Given the description of an element on the screen output the (x, y) to click on. 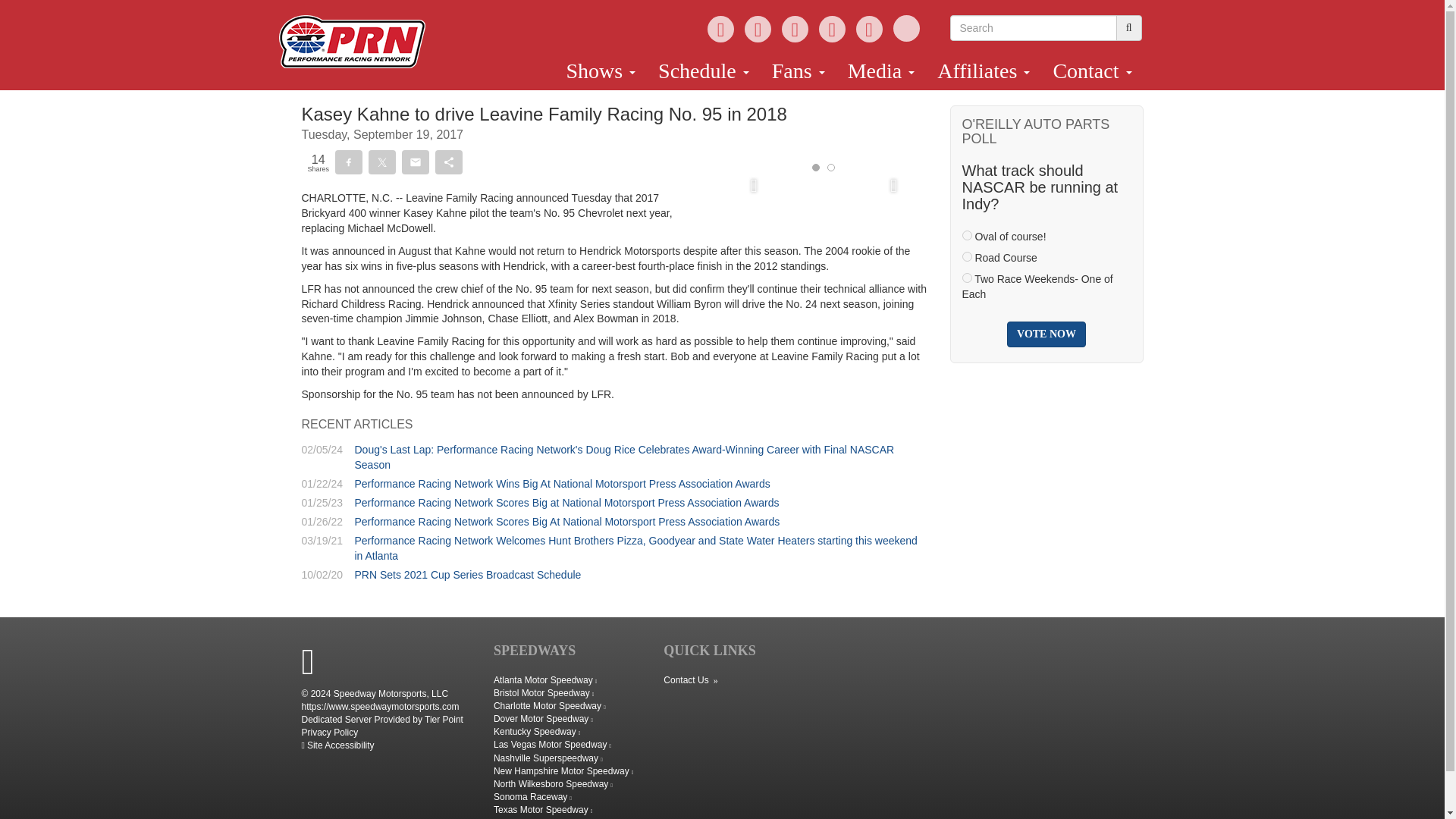
Search (1032, 27)
14632,51771 (965, 235)
Fans (797, 71)
14632,51772 (965, 256)
Media (880, 71)
Shows (600, 71)
Vote Now (1046, 334)
14632,51773 (965, 277)
Schedule (703, 71)
